Given the description of an element on the screen output the (x, y) to click on. 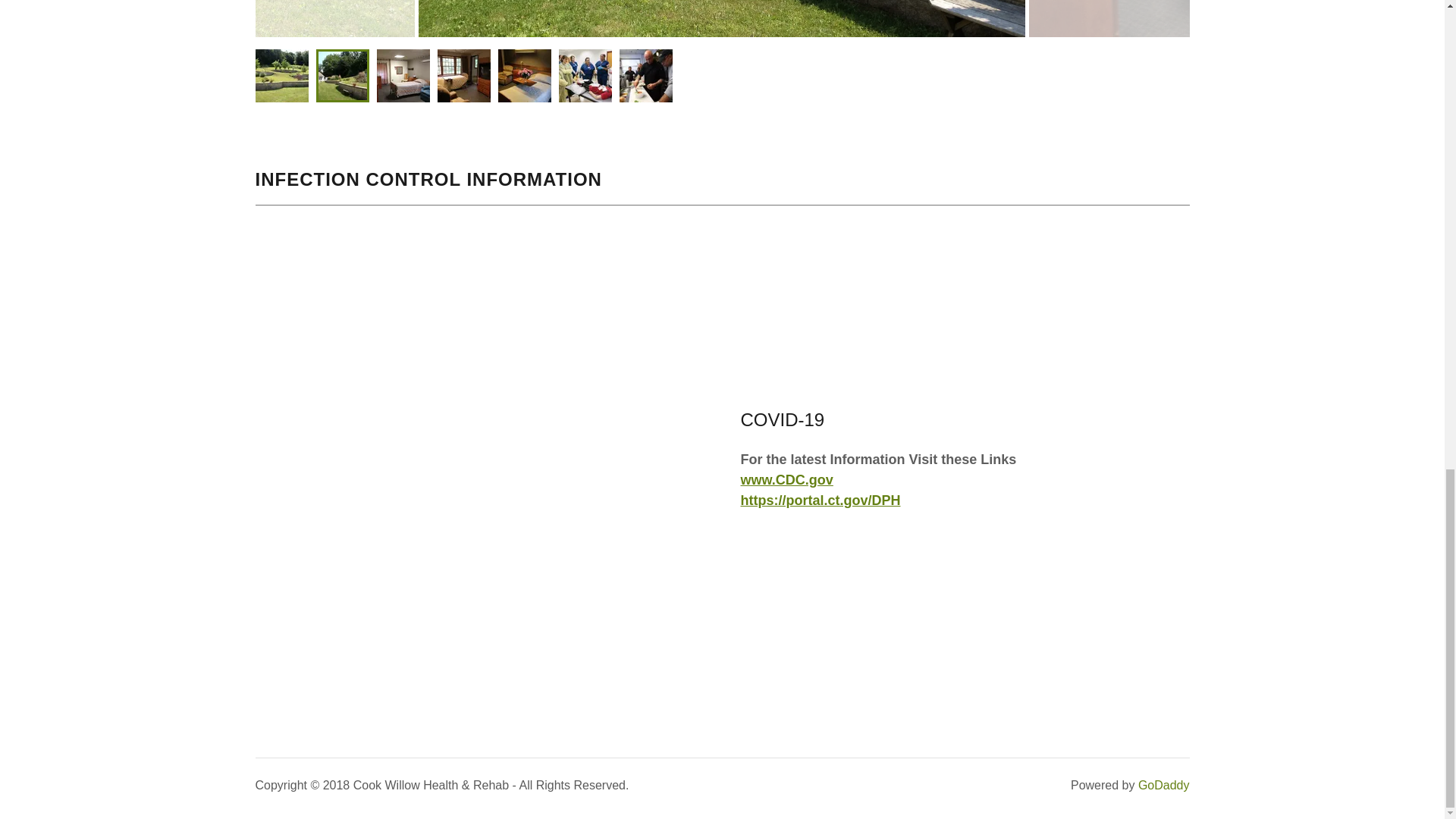
www.CDC.gov (785, 479)
GoDaddy (1163, 784)
